Given the description of an element on the screen output the (x, y) to click on. 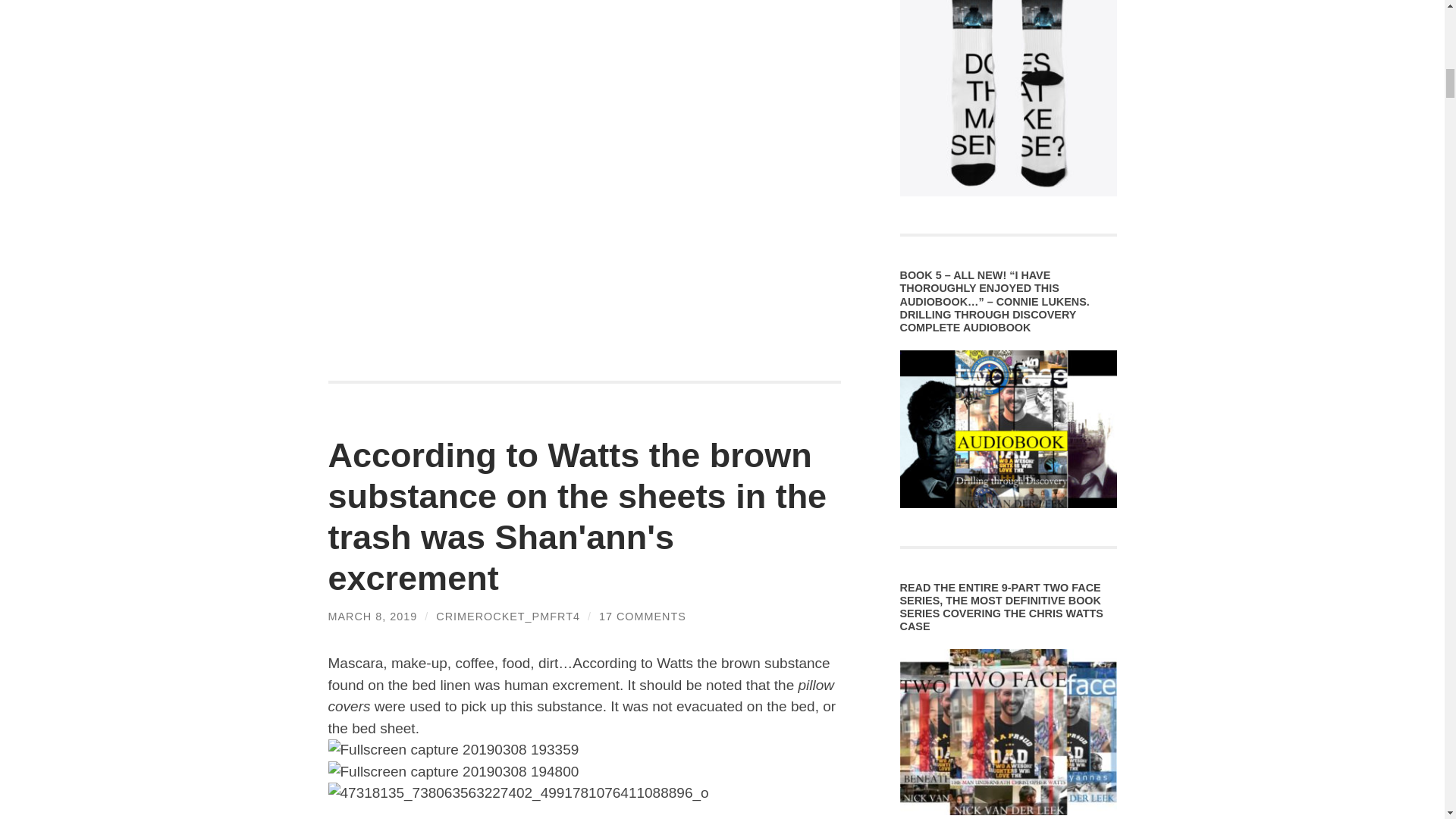
17 COMMENTS (641, 616)
MARCH 8, 2019 (371, 616)
